Given the description of an element on the screen output the (x, y) to click on. 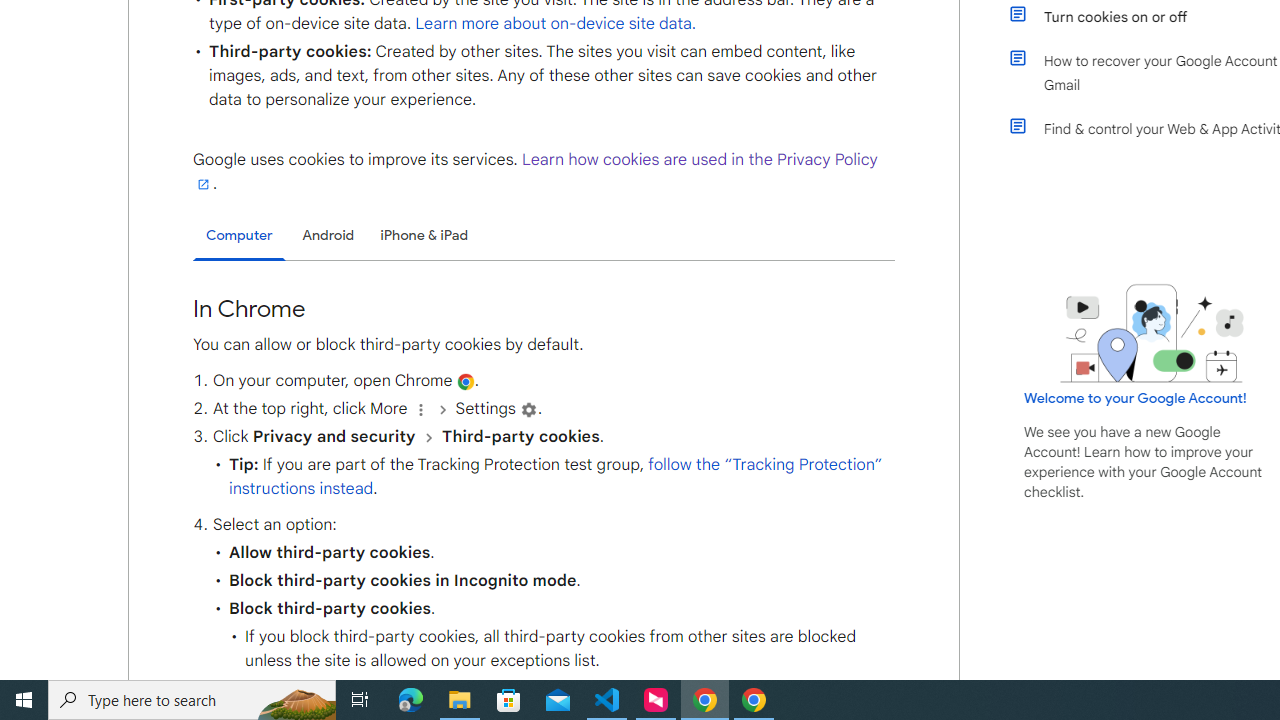
Learning Center home page image (1152, 333)
Computer (239, 235)
Welcome to your Google Account! (1135, 397)
Learn how cookies are used in the Privacy Policy (535, 171)
Android (328, 235)
and then (427, 437)
iPhone & iPad (424, 235)
More (420, 409)
Learn more about on-device site data. (555, 23)
